Given the description of an element on the screen output the (x, y) to click on. 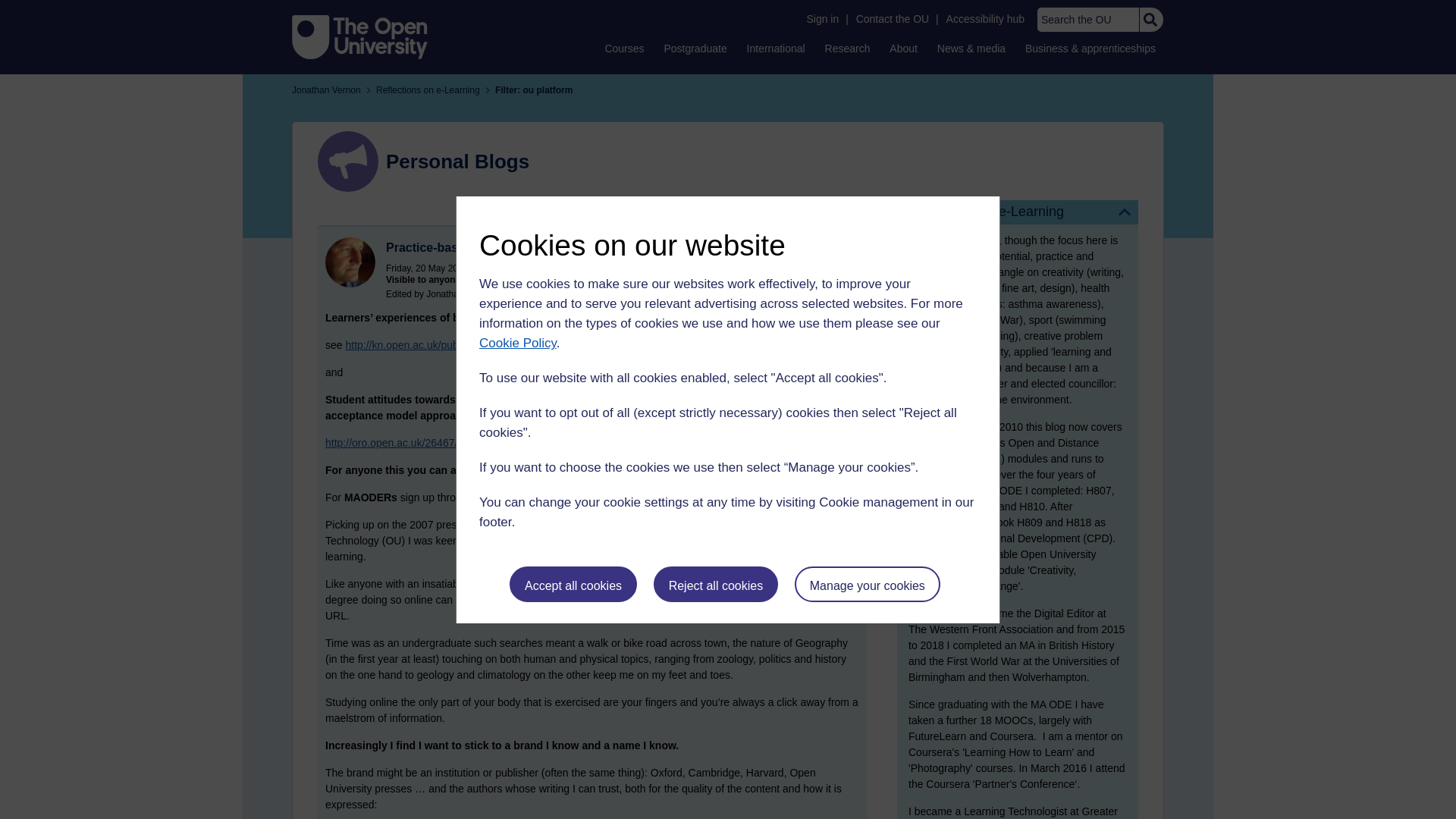
Reflections on e-Learning (1017, 211)
Accessibility hub (985, 19)
The Open University (360, 36)
Search (1149, 19)
Cookie Policy (517, 342)
Courses (623, 48)
Search (1149, 19)
Manage your cookies (867, 583)
Contact the OU (892, 19)
